Given the description of an element on the screen output the (x, y) to click on. 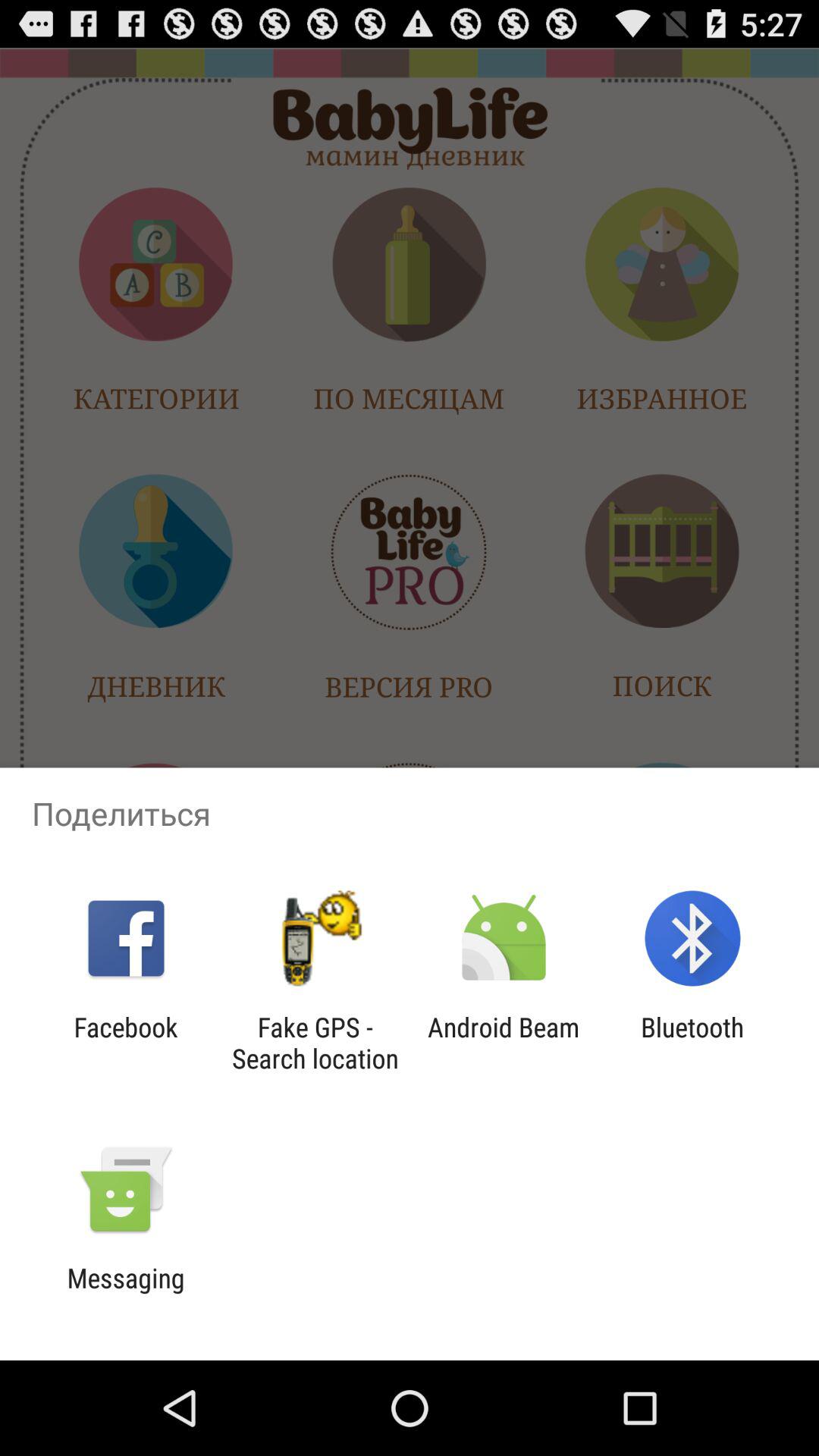
scroll until fake gps search app (314, 1042)
